Given the description of an element on the screen output the (x, y) to click on. 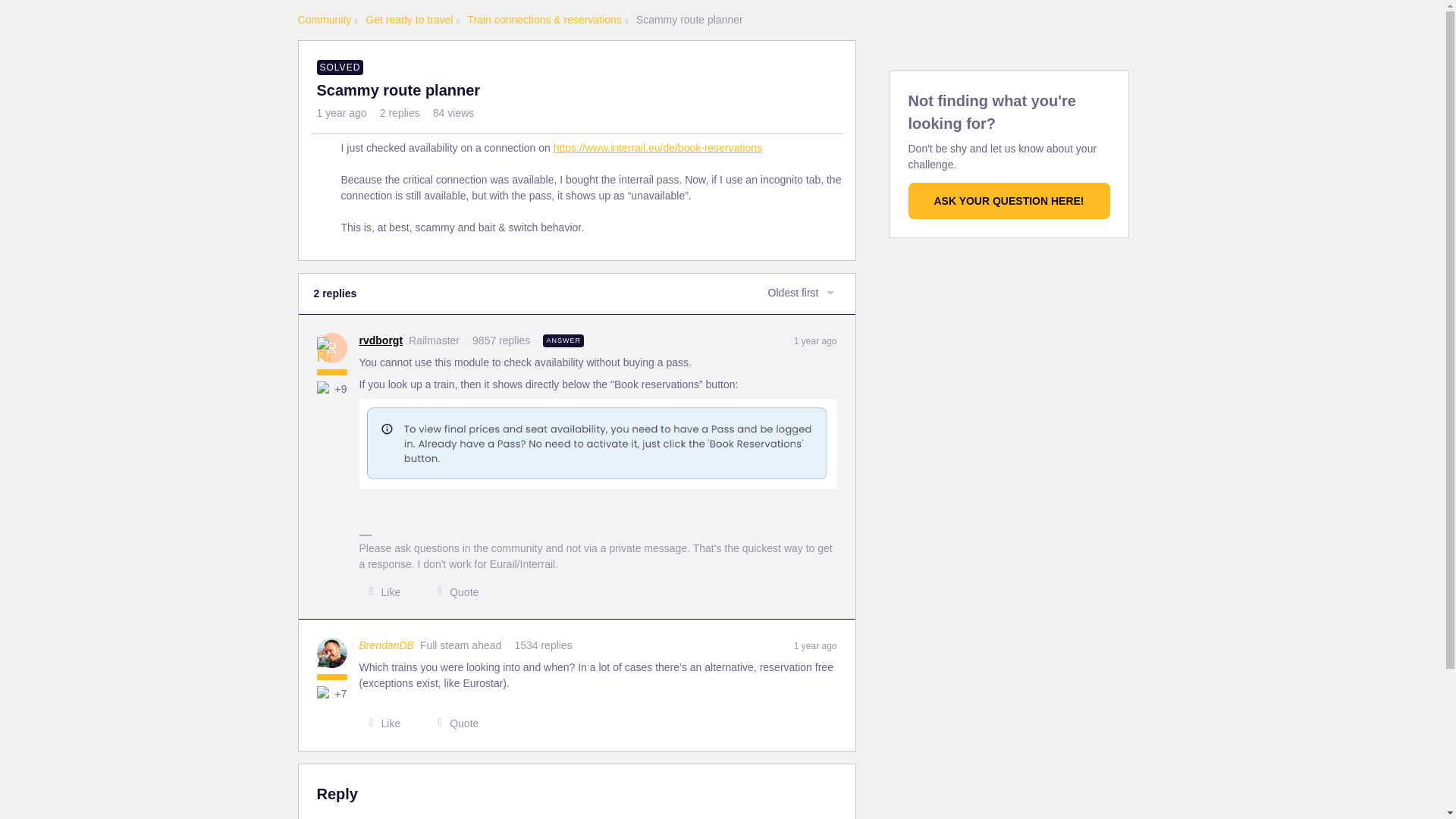
rvdborgt (381, 340)
ASK YOUR QUESTION HERE! (1008, 200)
Quote (453, 591)
Get ready to travel (408, 19)
BrendanDB (386, 645)
Full steam ahead (323, 661)
2 replies (400, 112)
Like (380, 591)
Like (380, 723)
BrendanDB (386, 645)
